Given the description of an element on the screen output the (x, y) to click on. 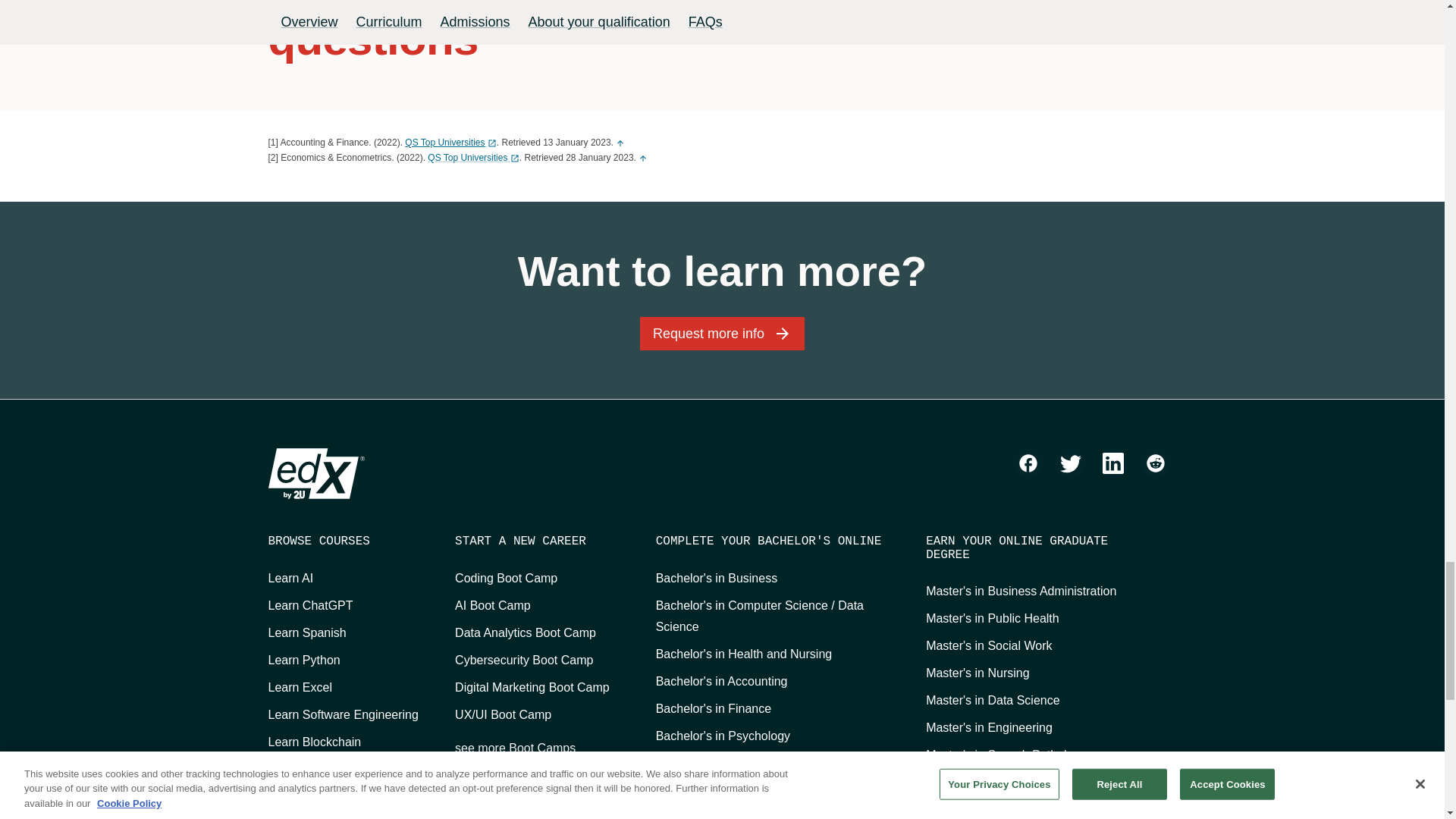
Twitter (1070, 462)
Reddit (1155, 462)
Facebook (1028, 462)
LinkedIn (1112, 462)
